Given the description of an element on the screen output the (x, y) to click on. 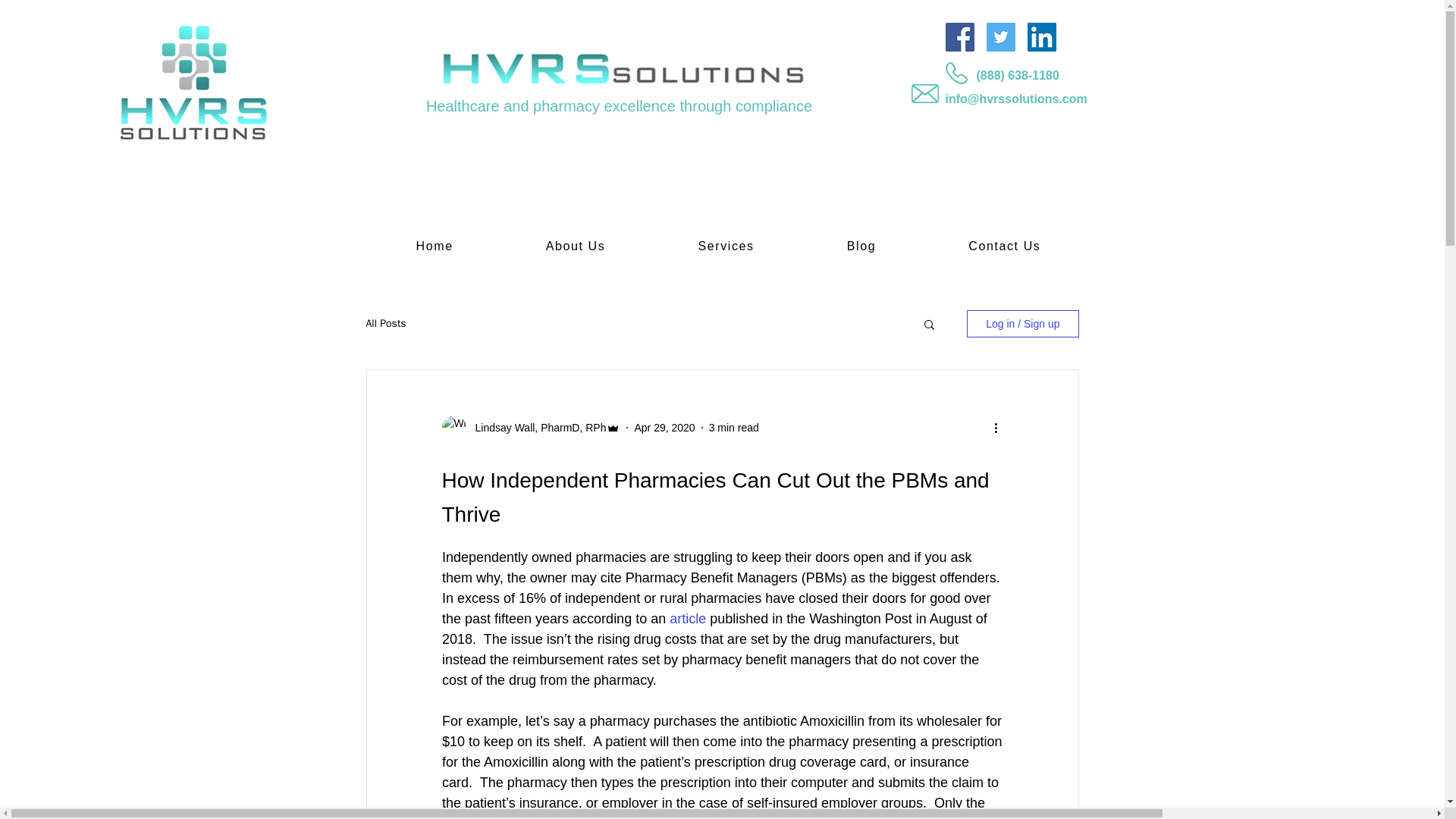
Contact Us (1003, 246)
Apr 29, 2020 (663, 427)
Services (724, 246)
About Us (575, 246)
Home (434, 246)
article (687, 618)
All Posts (385, 323)
Lindsay Wall, PharmD, RPh (535, 427)
Blog (861, 246)
3 min read (733, 427)
